Given the description of an element on the screen output the (x, y) to click on. 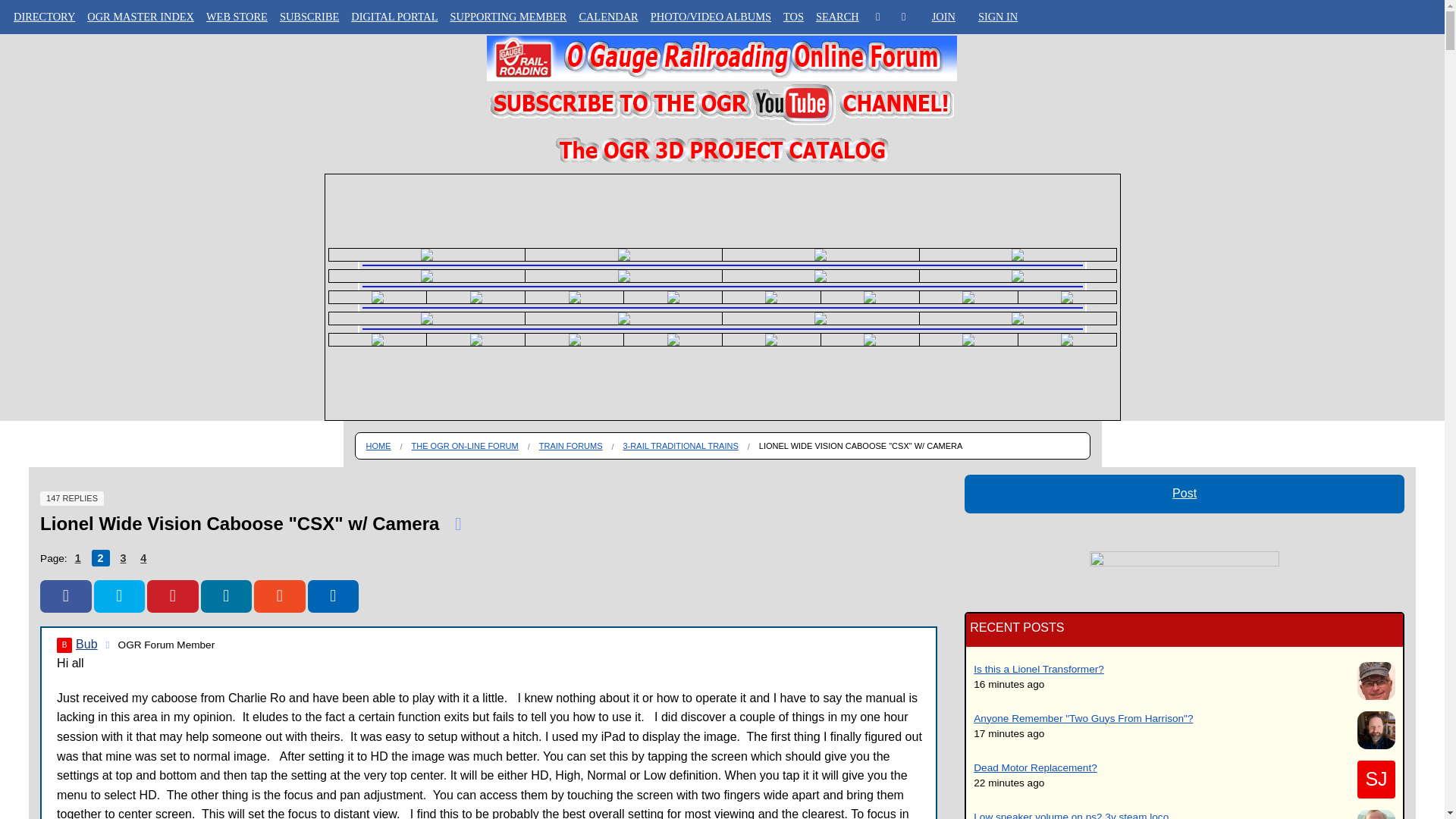
ALL TOPICS (44, 80)
SJ (1375, 779)
DIRECTORY (44, 17)
OGR VIDEOS (44, 109)
DIRECTORY (44, 50)
Bub (63, 645)
LAYOUT BUILDING FORUMS (44, 168)
TRAIN FORUMS (44, 138)
B (63, 645)
